Given the description of an element on the screen output the (x, y) to click on. 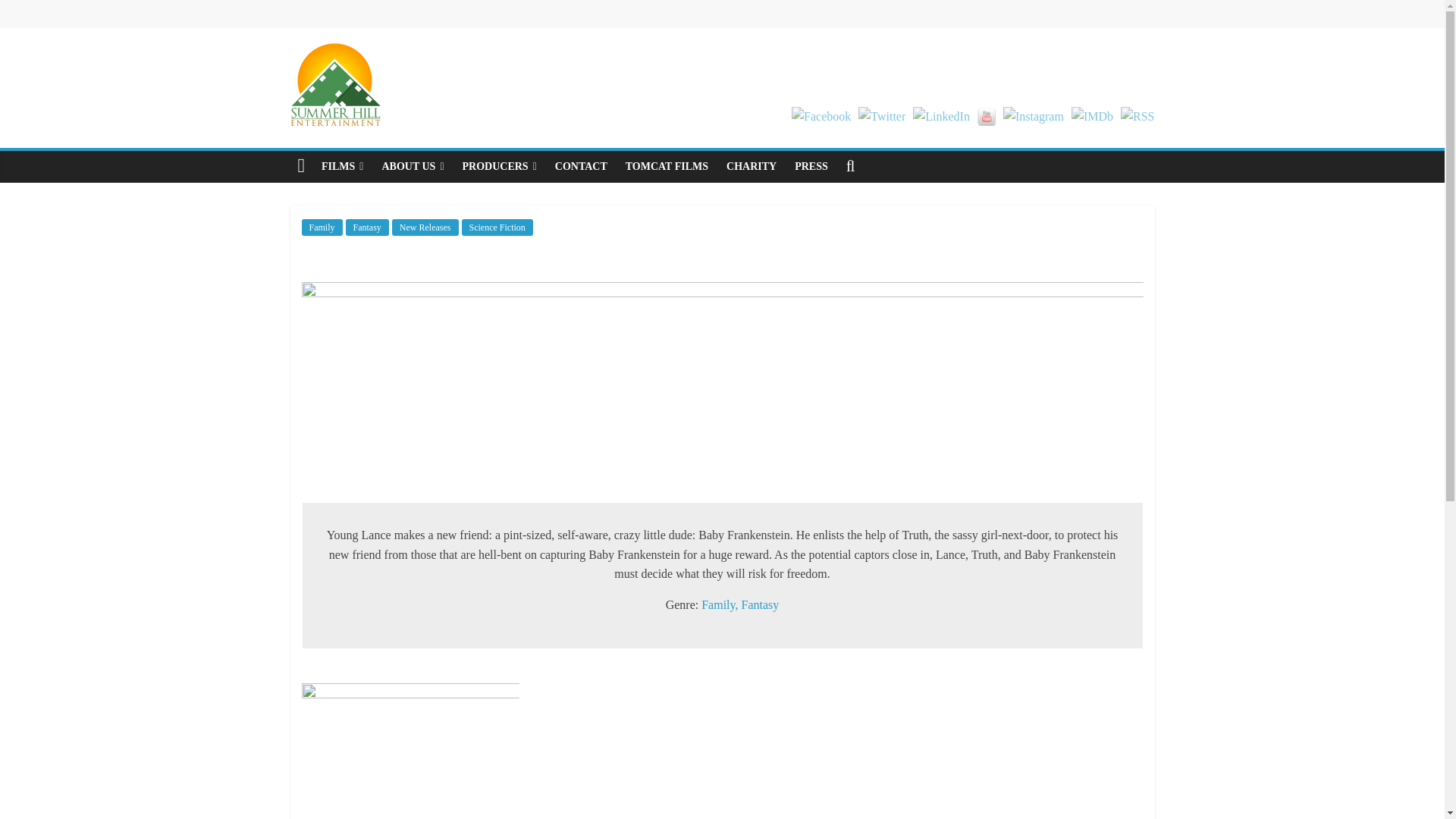
 IMDb (1092, 116)
Summer Hill Entertainment (301, 166)
FILMS (342, 166)
 Instagram (1033, 116)
 Twitter (882, 116)
 Facebook (821, 116)
 YouTube (985, 116)
 RSS (1137, 116)
Baby Frankenstein - Trailer (841, 745)
 LinkedIn (940, 116)
